Given the description of an element on the screen output the (x, y) to click on. 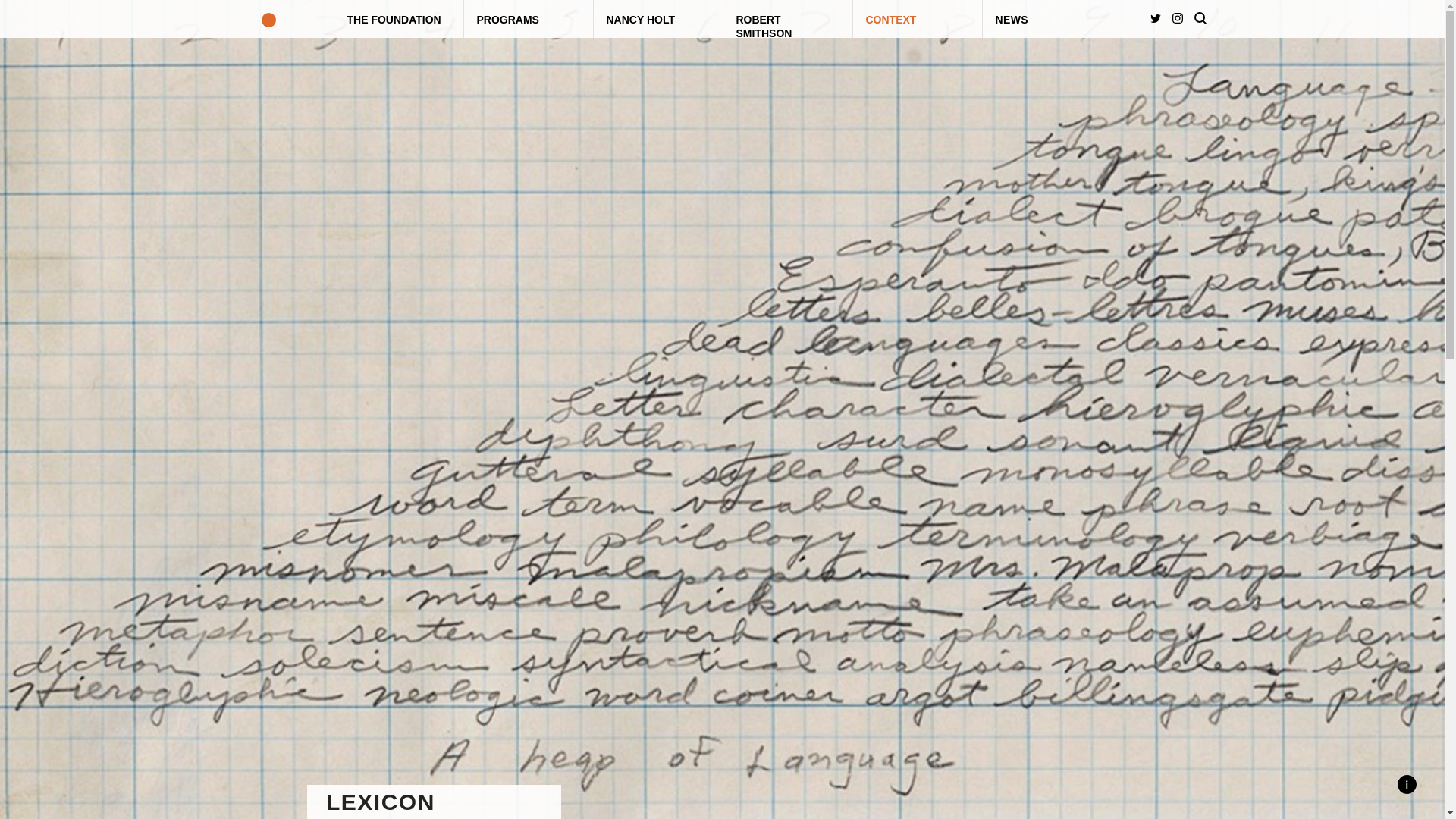
Show banner media info (1405, 783)
Site search (1199, 18)
HSF on Twitter (1155, 18)
HSF on Instagram (1177, 18)
HOME (269, 18)
NEWS (1047, 18)
